Given the description of an element on the screen output the (x, y) to click on. 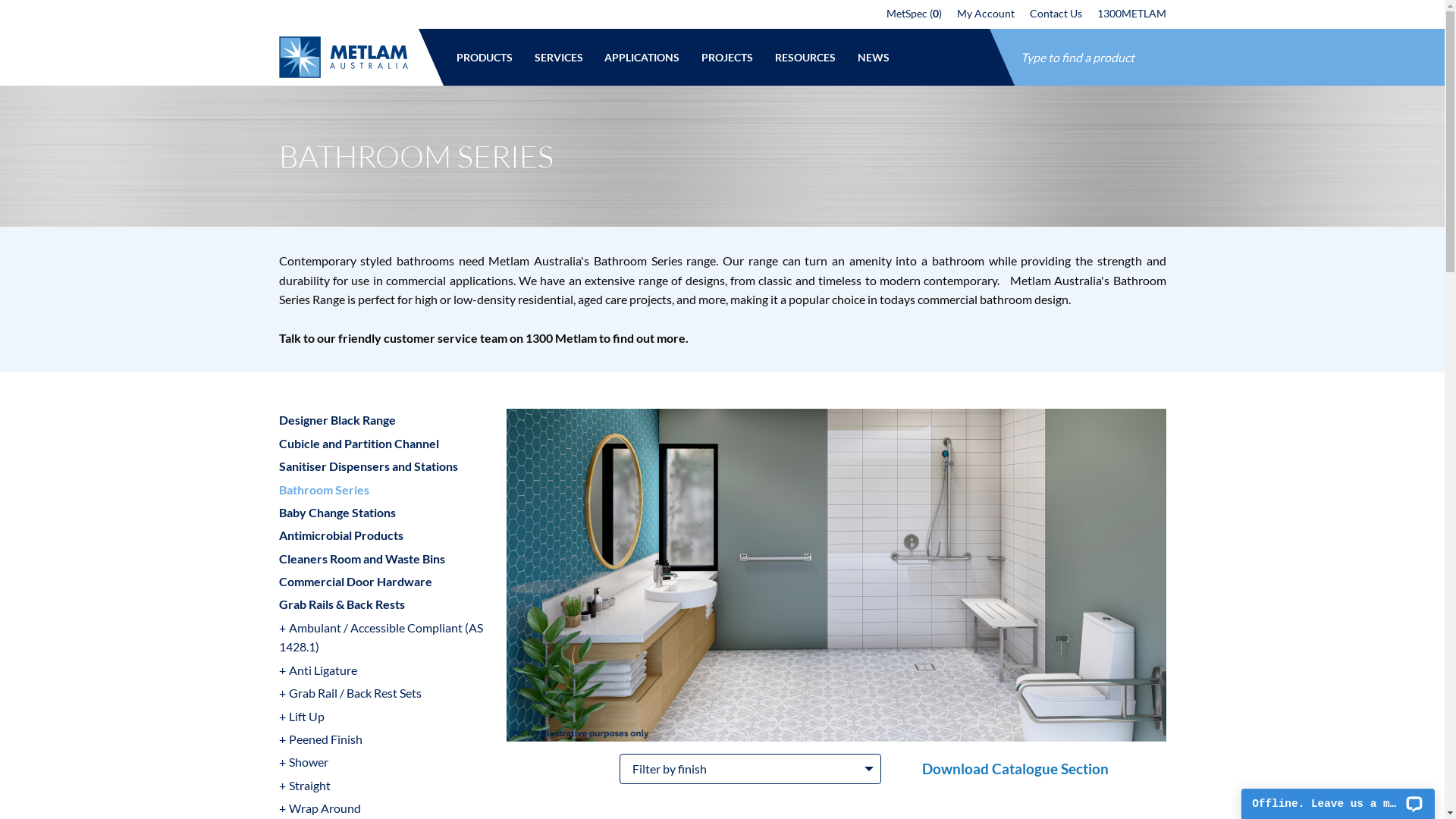
SERVICES Element type: text (558, 56)
Anti Ligature Element type: text (381, 669)
Baby Change Stations Element type: text (381, 512)
Shower Element type: text (381, 761)
Peened Finish Element type: text (381, 739)
Grab Rails & Back Rests Element type: text (381, 604)
Commercial Door Hardware Element type: text (381, 581)
MetSpec (0) Element type: text (911, 14)
Contact Us Element type: text (1054, 14)
Lift Up Element type: text (381, 715)
Sanitiser Dispensers and Stations Element type: text (381, 466)
APPLICATIONS Element type: text (641, 56)
Antimicrobial Products Element type: text (381, 535)
Ambulant / Accessible Compliant (AS 1428.1) Element type: text (381, 636)
1300METLAM Element type: text (1129, 14)
PROJECTS Element type: text (727, 56)
My Account Element type: text (983, 14)
Designer Black Range Element type: text (381, 419)
NEWS Element type: text (873, 56)
Straight Element type: text (381, 784)
RESOURCES Element type: text (805, 56)
Bathroom Series Element type: text (381, 488)
Download Catalogue Section Element type: text (1015, 768)
PRODUCTS Element type: text (484, 56)
Cleaners Room and Waste Bins Element type: text (381, 557)
Grab Rail / Back Rest Sets Element type: text (381, 692)
Cubicle and Partition Channel Element type: text (381, 442)
